Given the description of an element on the screen output the (x, y) to click on. 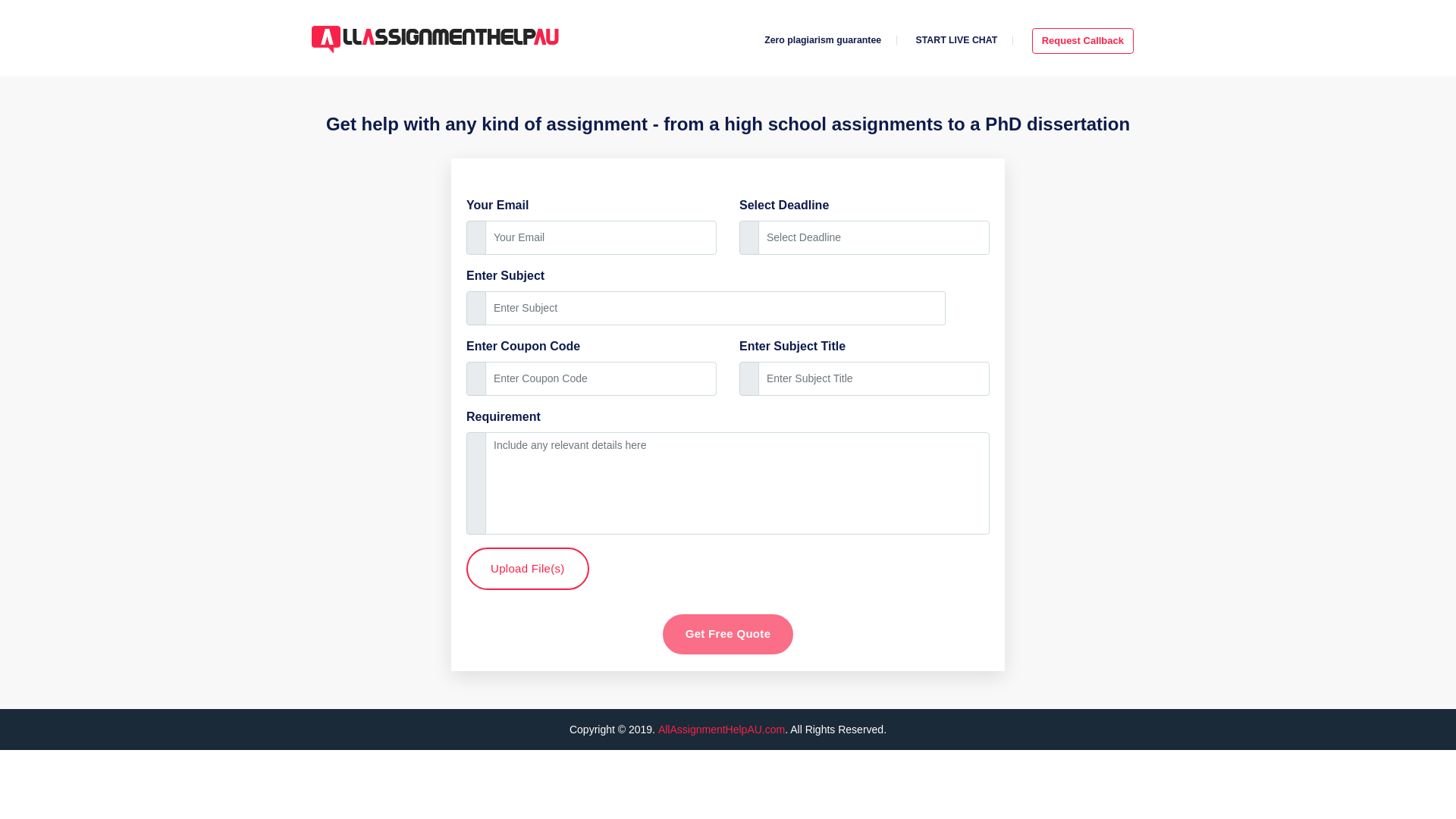
AllAssignmentHelpAU.com (721, 729)
Zero plagiarism guarantee (822, 40)
START LIVE CHAT (956, 40)
Request Callback (1083, 40)
Get Free Quote (727, 634)
